Given the description of an element on the screen output the (x, y) to click on. 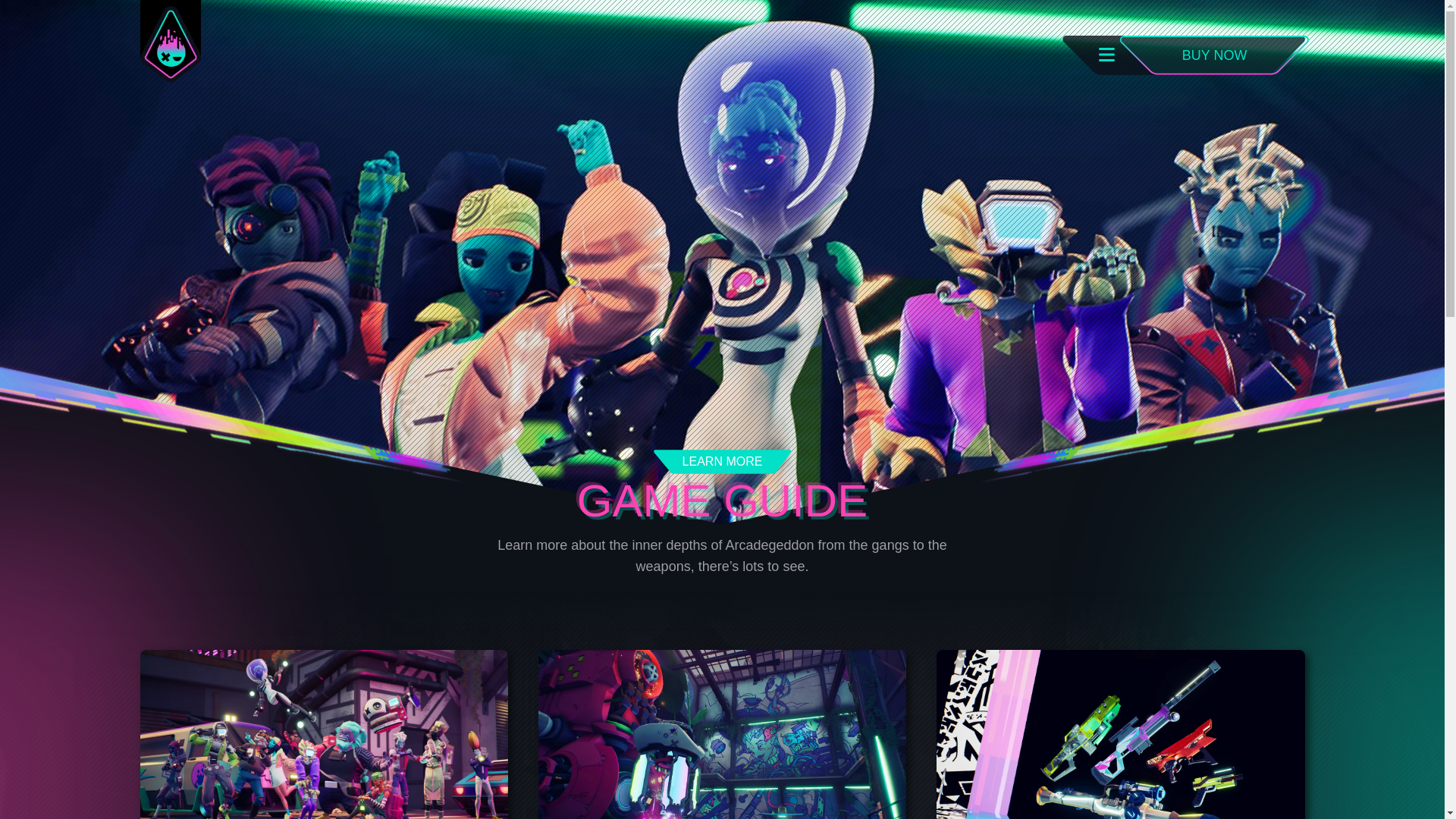
BUY NOW (1214, 56)
